Given the description of an element on the screen output the (x, y) to click on. 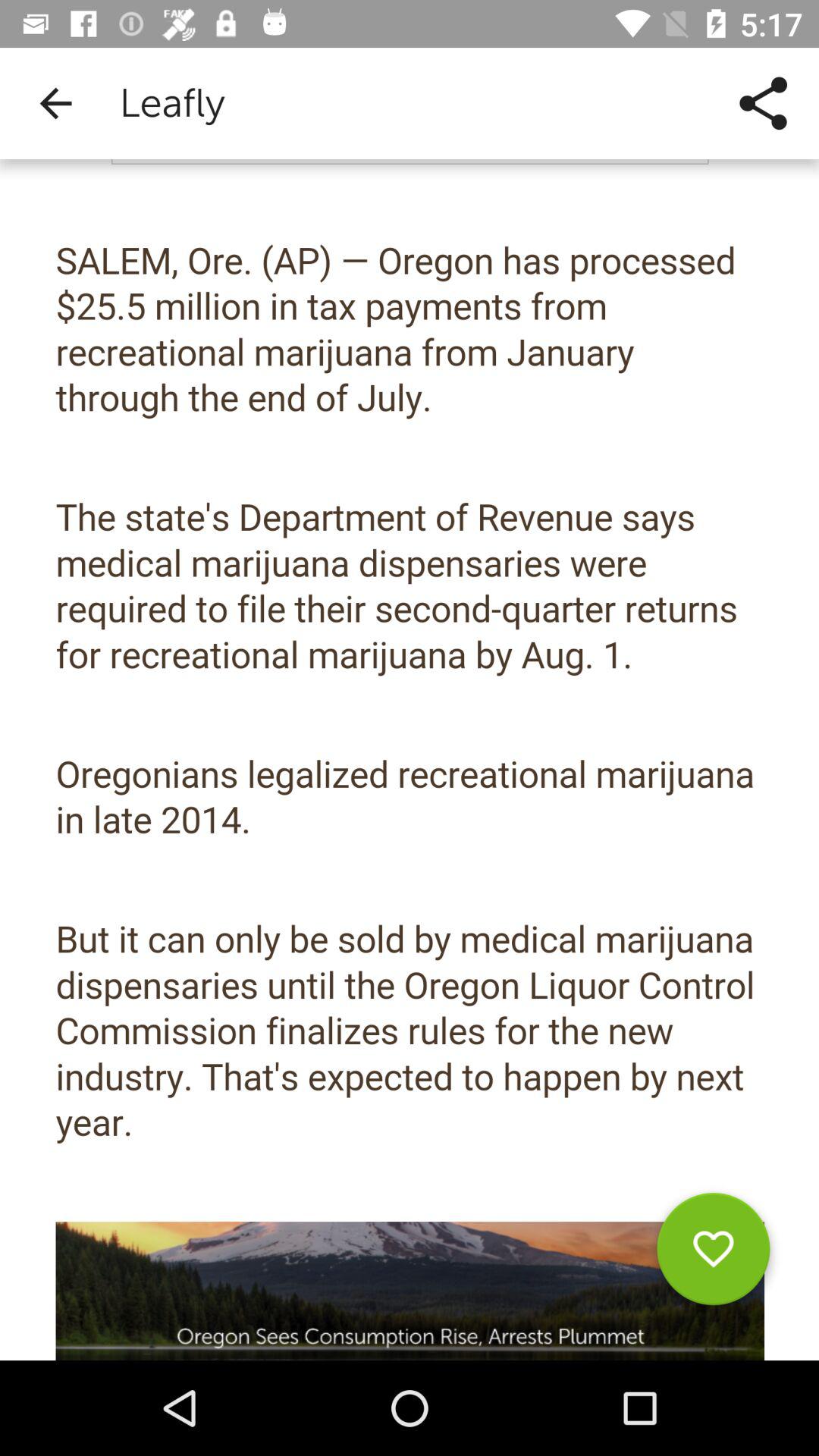
parfait (713, 1254)
